Given the description of an element on the screen output the (x, y) to click on. 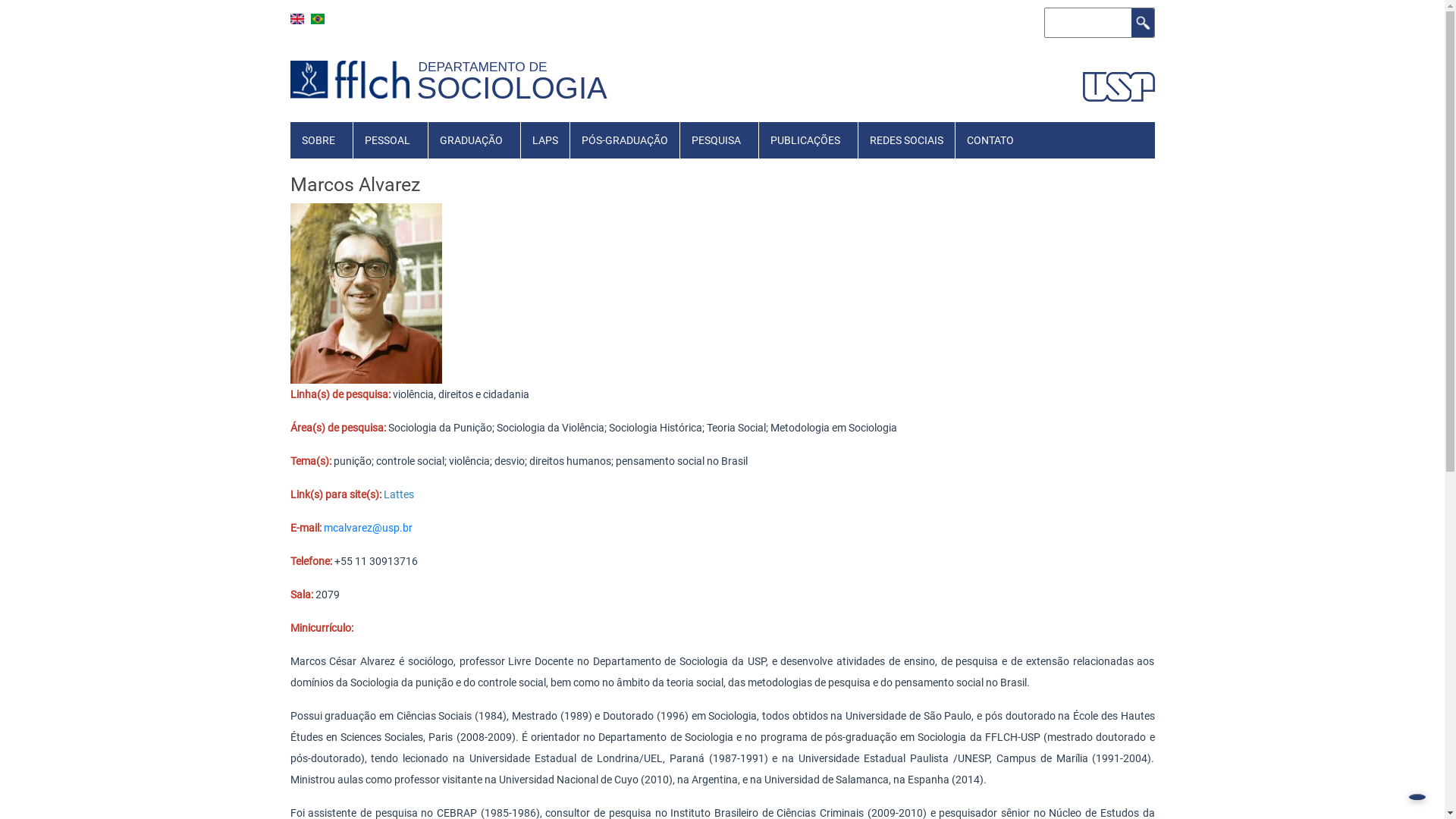
PESQUISA Element type: text (715, 140)
SOCIOLOGIA Element type: text (512, 87)
mcalvarez@usp.br Element type: text (367, 527)
SOBRE Element type: text (317, 140)
PESSOAL Element type: text (387, 140)
REDES SOCIAIS Element type: text (906, 140)
DEPARTAMENTO DE   Element type: text (486, 66)
Buscar Element type: text (1142, 22)
Lattes Element type: text (398, 494)
Portuguese, Brazil Element type: hover (317, 18)
Back to Top Element type: hover (1416, 796)
LAPS Element type: text (544, 140)
CONTATO Element type: text (990, 140)
